Given the description of an element on the screen output the (x, y) to click on. 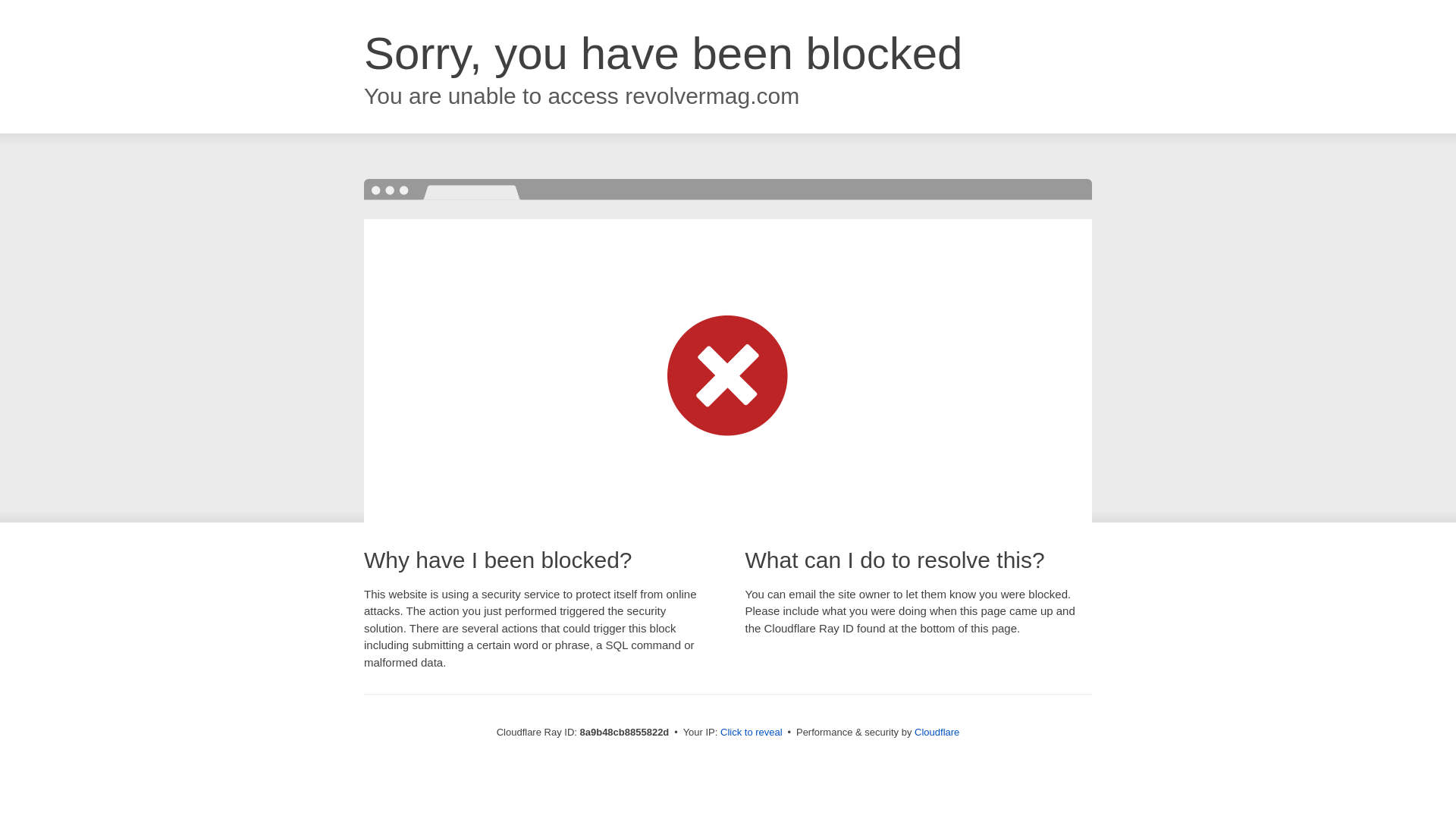
Click to reveal (751, 732)
Cloudflare (936, 731)
